Given the description of an element on the screen output the (x, y) to click on. 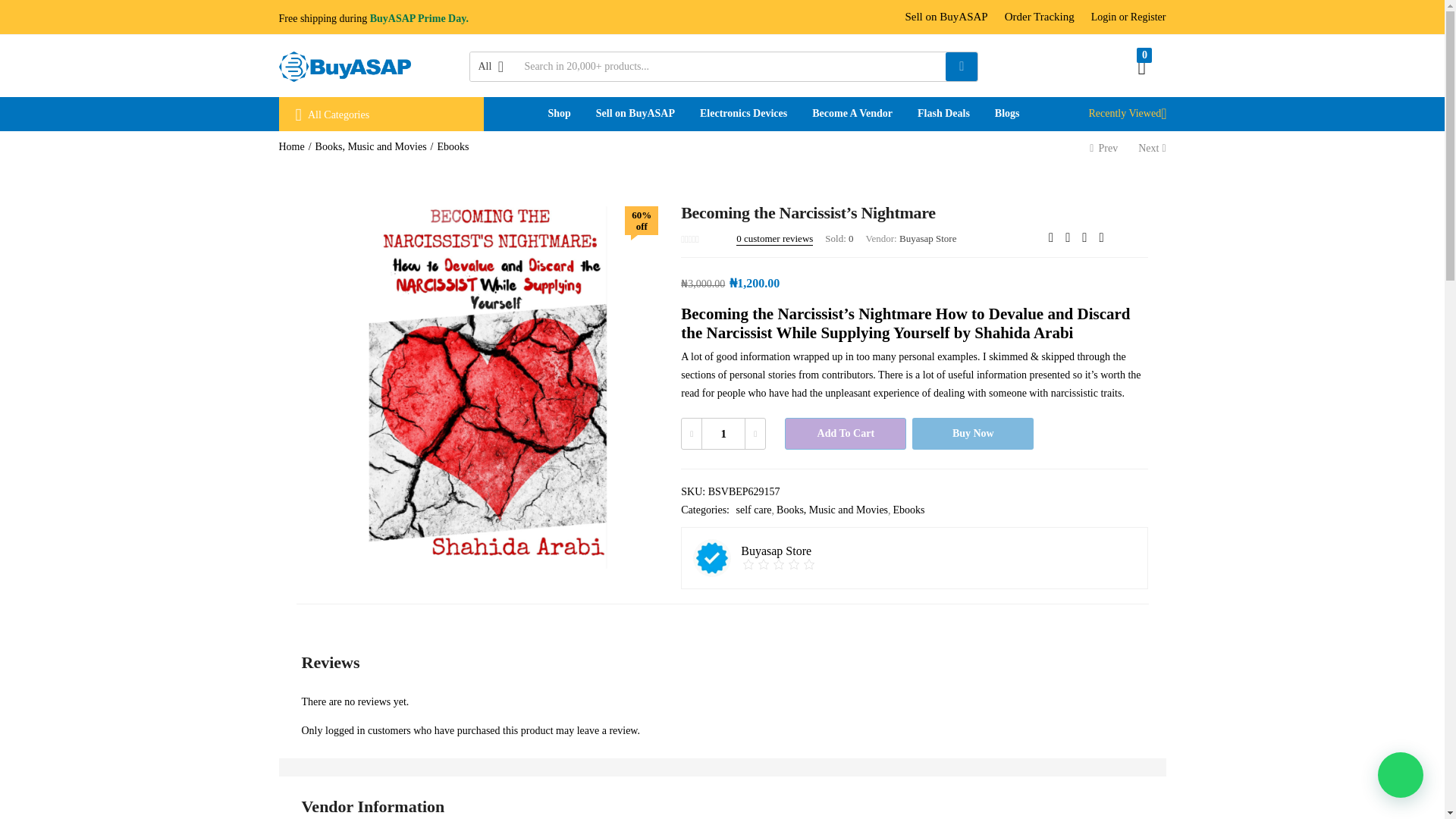
 All (492, 66)
1 (723, 433)
